Given the description of an element on the screen output the (x, y) to click on. 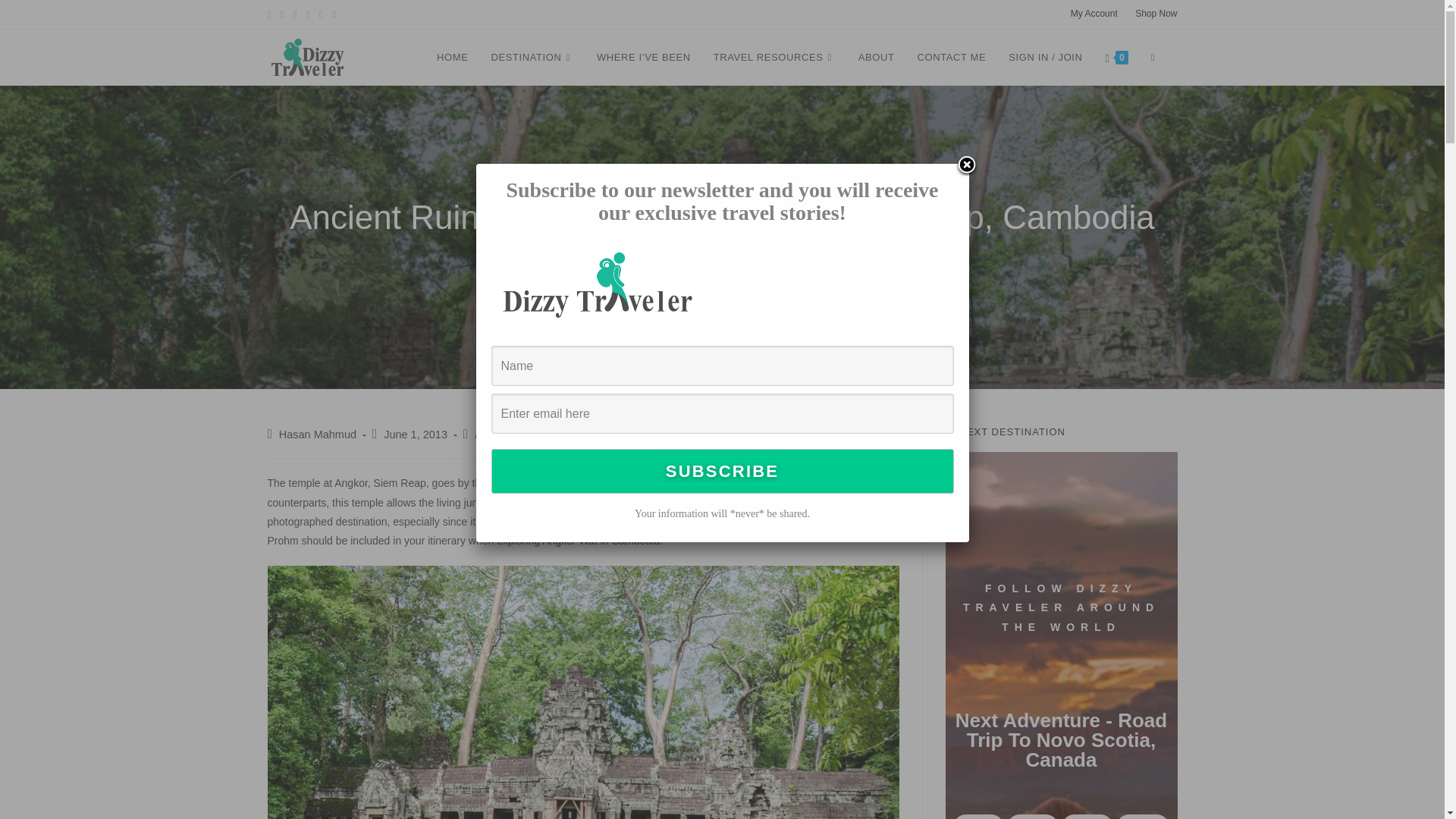
Subscribe (722, 470)
DESTINATION (532, 57)
Close (966, 165)
Shop Now (1155, 13)
HOME (452, 57)
Posts by Hasan Mahmud (317, 434)
My Account (1094, 13)
